Given the description of an element on the screen output the (x, y) to click on. 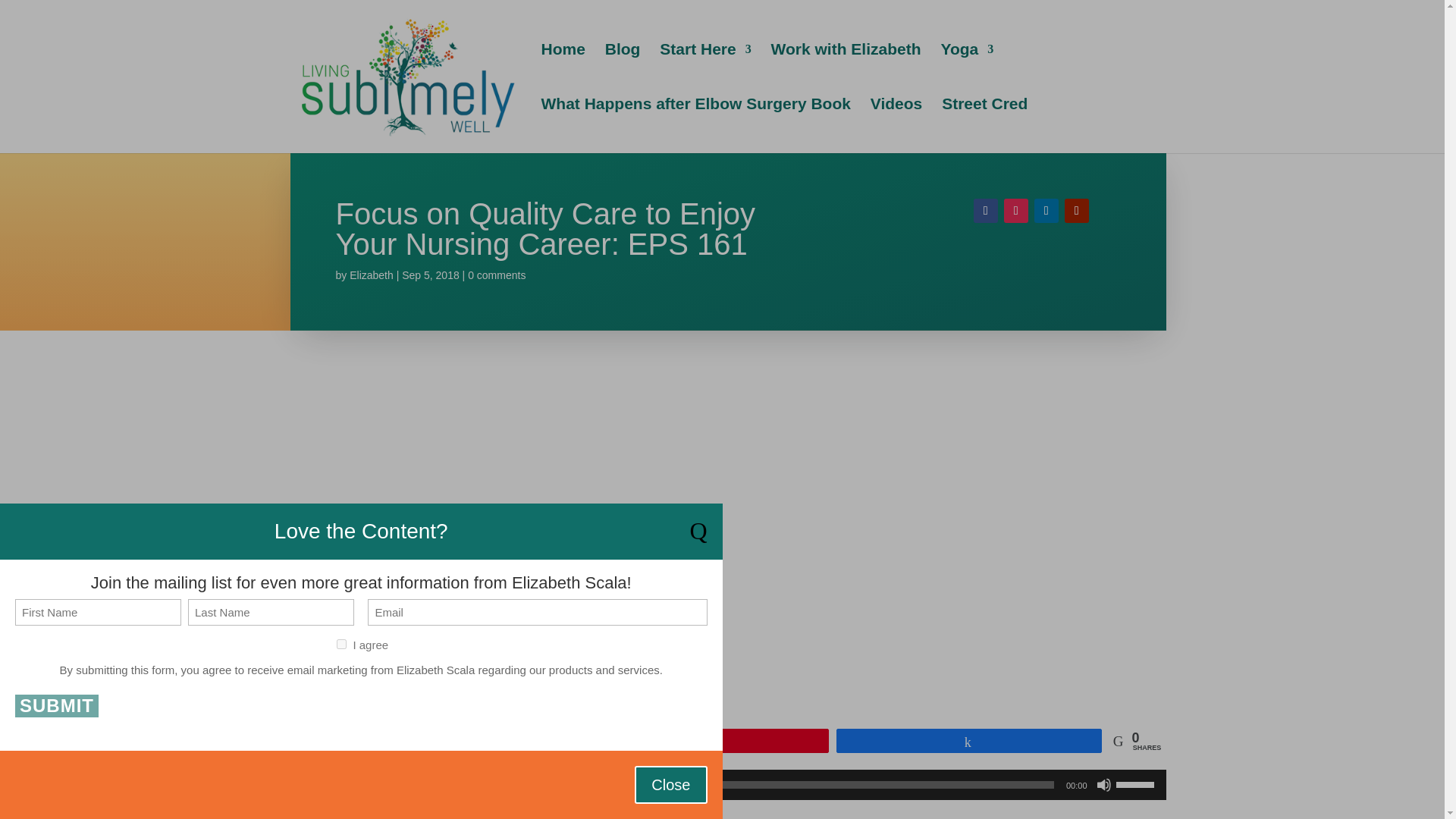
Posts by Elizabeth (371, 275)
Submit (56, 705)
Videos (895, 125)
Work with Elizabeth (846, 71)
Follow on Facebook (985, 210)
Play in new window (393, 809)
Follow on Instagram (1015, 210)
Follow on Youtube (1076, 210)
Play (309, 784)
Mute (1104, 784)
Start Here (705, 71)
Download (484, 809)
I agree (341, 644)
Street Cred (984, 125)
Yoga (966, 71)
